Given the description of an element on the screen output the (x, y) to click on. 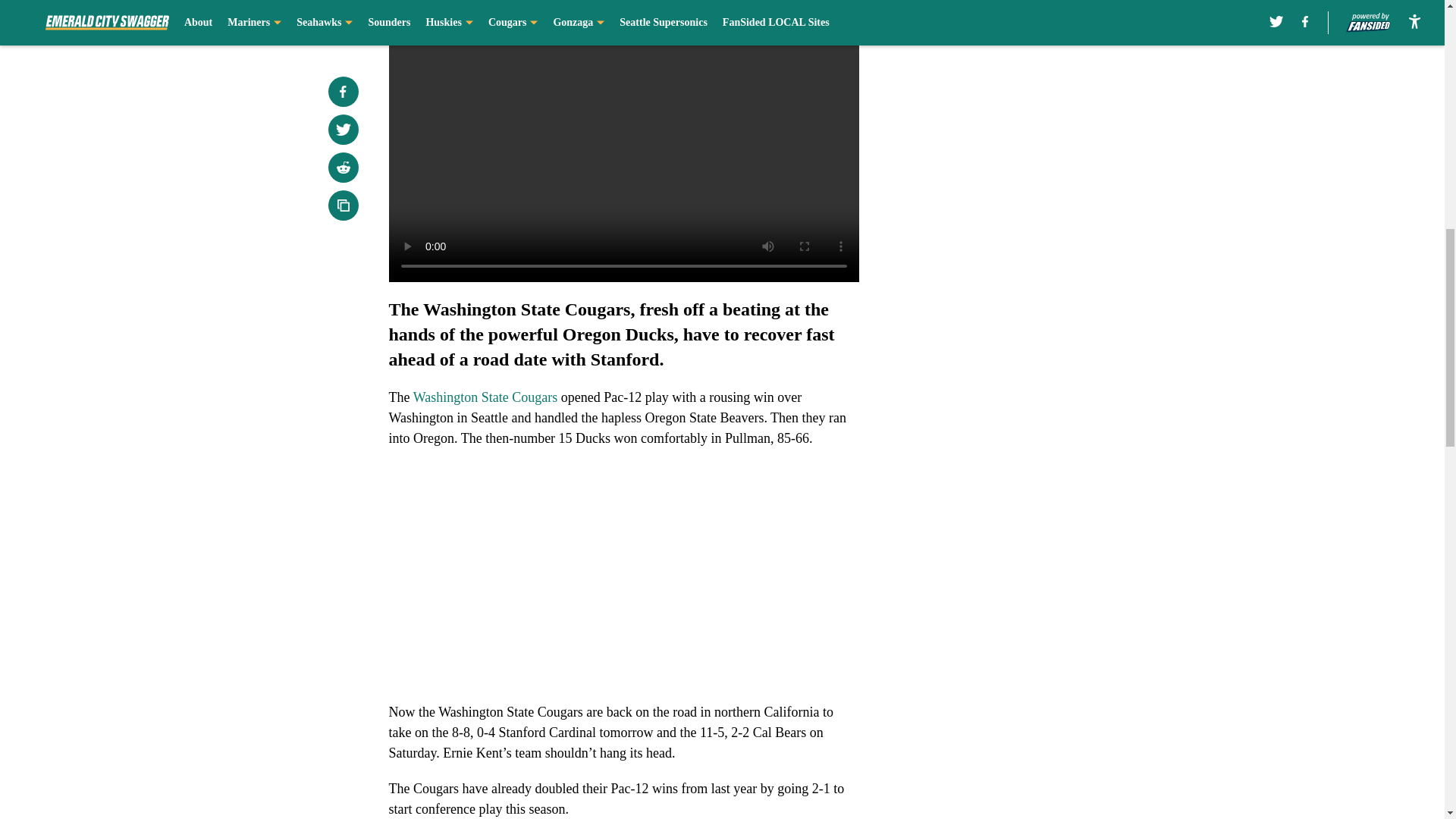
3rd party ad content (1047, 113)
Washington State Cougars (485, 396)
Advertisement (623, 150)
3rd party ad content (1047, 332)
